Given the description of an element on the screen output the (x, y) to click on. 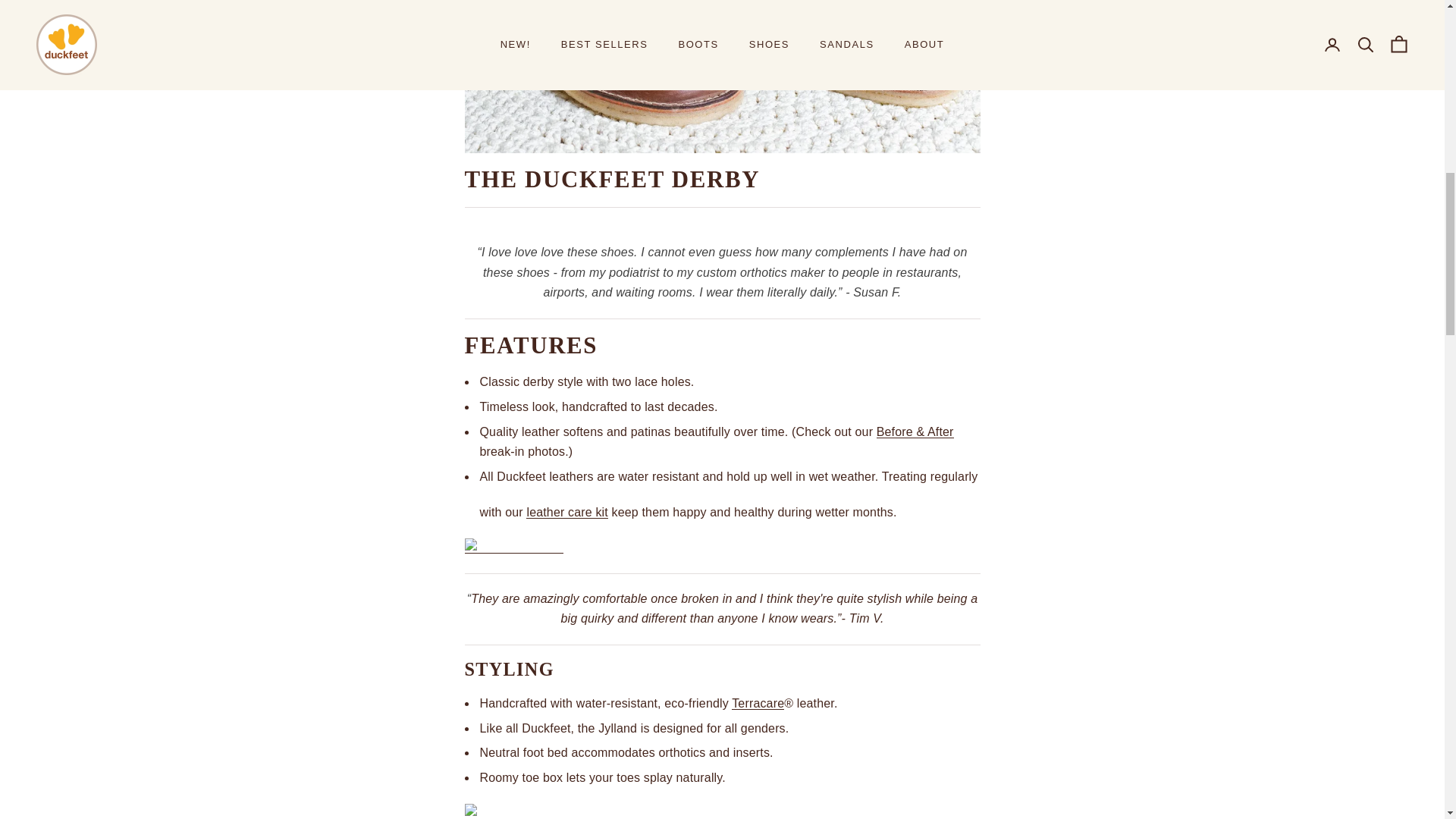
Jylland Cocoa (721, 76)
Jylland Granate (513, 546)
Jylland brown (508, 812)
